Given the description of an element on the screen output the (x, y) to click on. 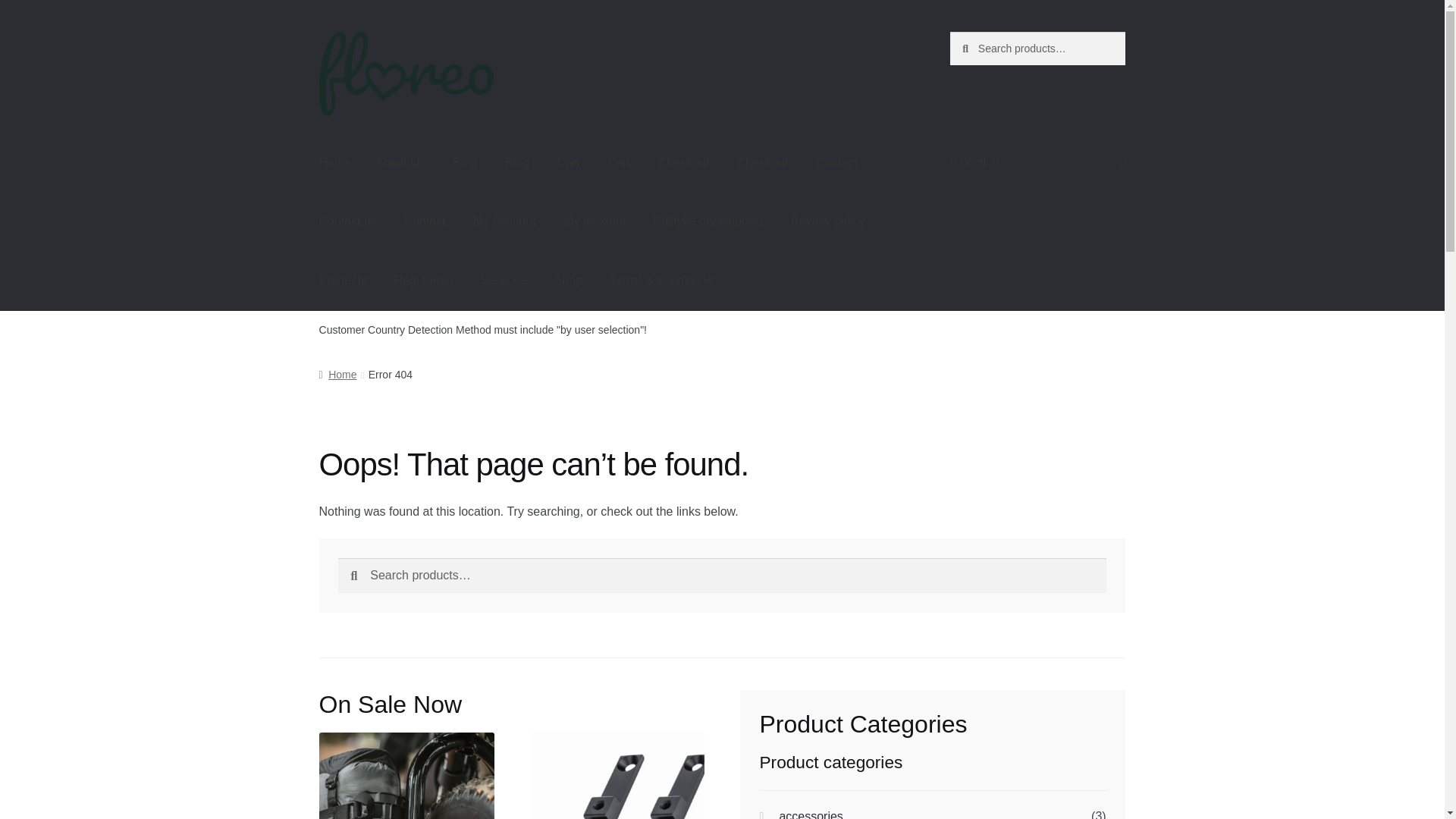
Home (335, 162)
My account (594, 220)
Services (502, 280)
Contact us (347, 220)
Checkout (762, 162)
Products (342, 280)
My Account (504, 220)
Regulamin (422, 280)
View your shopping cart (1037, 162)
